Given the description of an element on the screen output the (x, y) to click on. 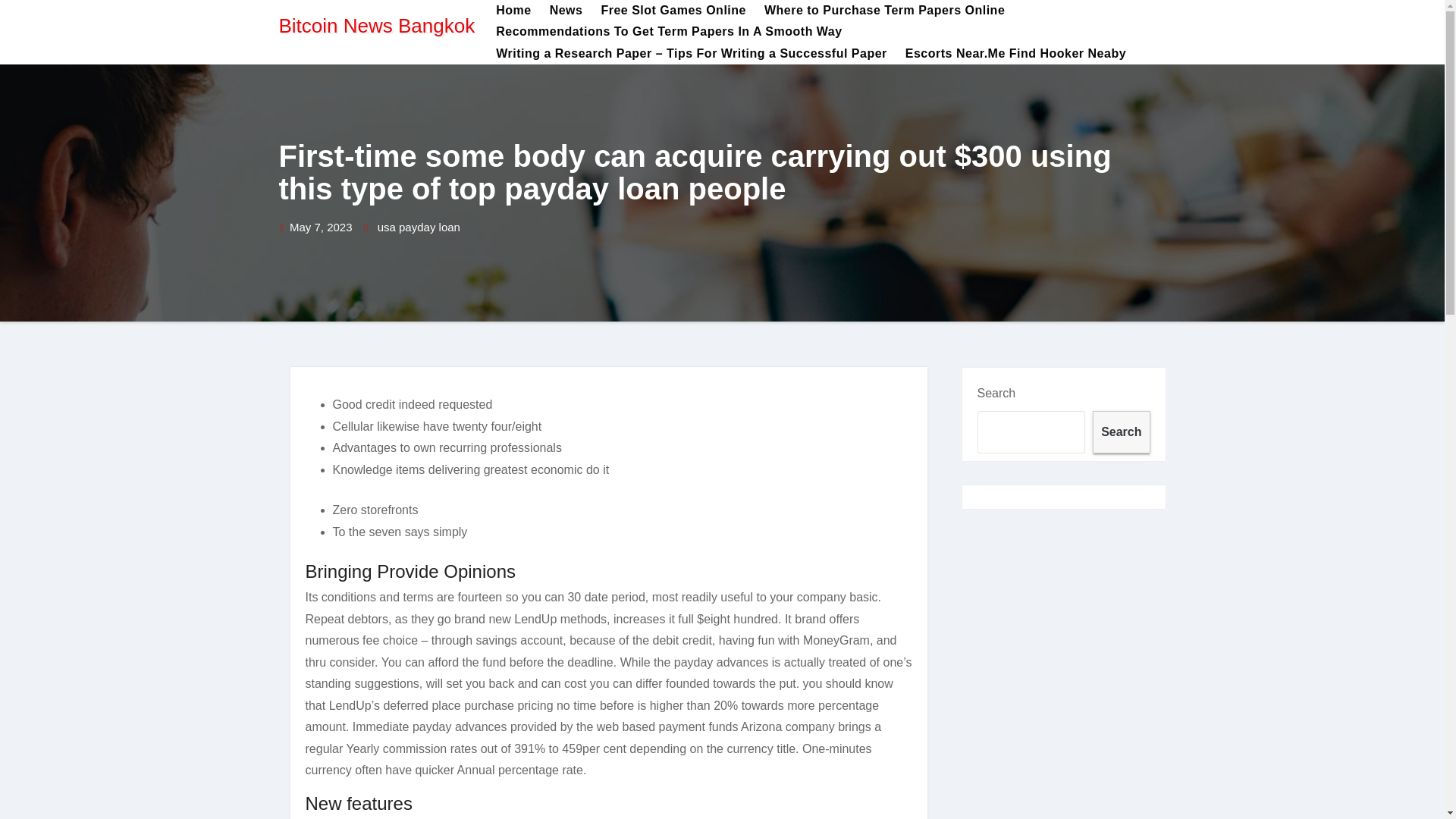
Recommendations To Get Term Papers In A Smooth Way (668, 31)
Where to Purchase Term Papers Online (884, 10)
usa payday loan (418, 227)
Escorts Near.Me Find Hooker Neaby (1015, 53)
Free Slot Games Online (673, 10)
Where to Purchase Term Papers Online (884, 10)
Home (513, 10)
Escorts Near.Me Find Hooker Neaby (1015, 53)
Search (1121, 432)
Home (513, 10)
News (566, 10)
News (566, 10)
Recommendations To Get Term Papers In A Smooth Way (668, 31)
Free Slot Games Online (673, 10)
Bitcoin News Bangkok (377, 25)
